Given the description of an element on the screen output the (x, y) to click on. 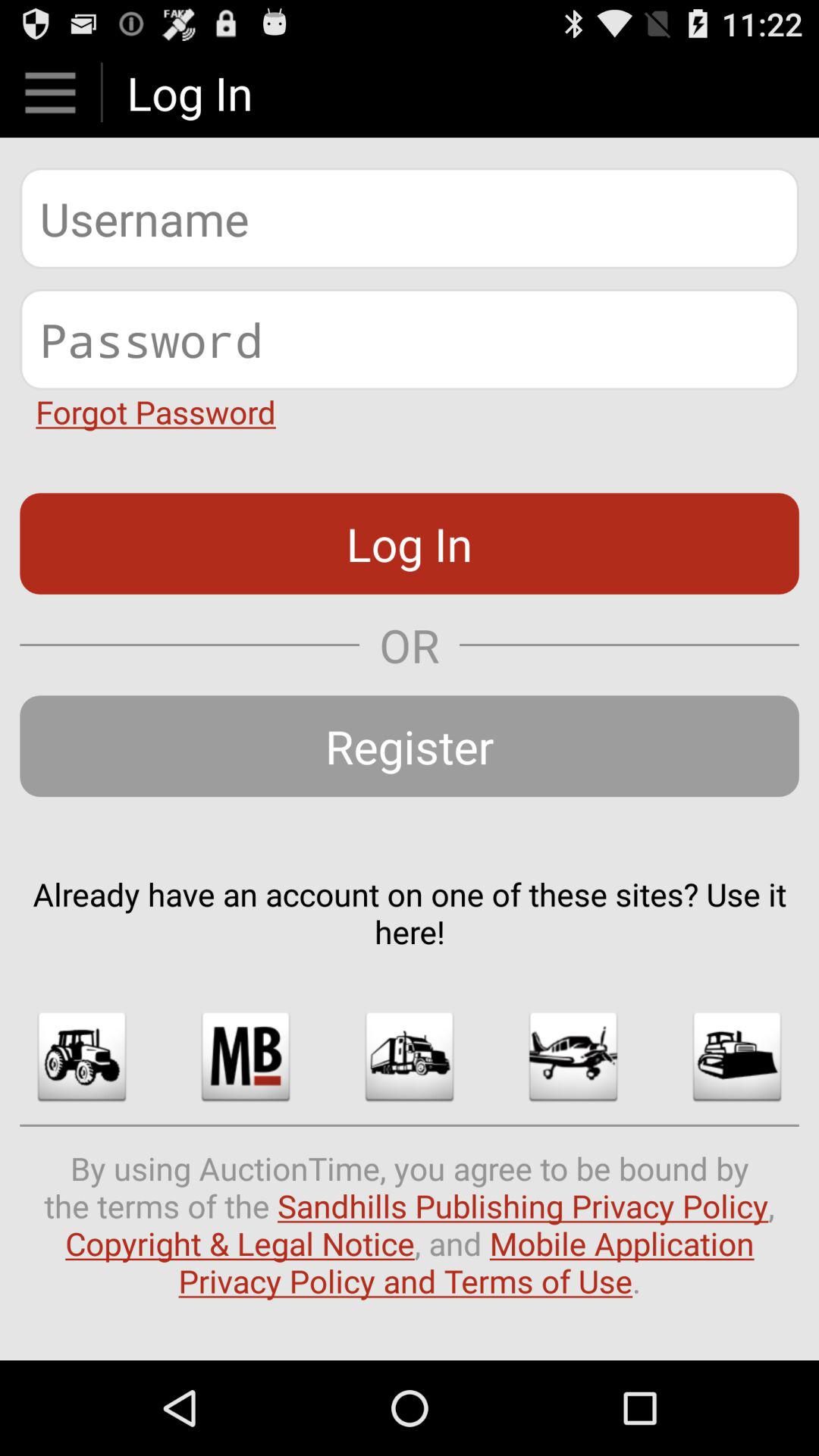
tap icon above the already have an app (409, 745)
